Given the description of an element on the screen output the (x, y) to click on. 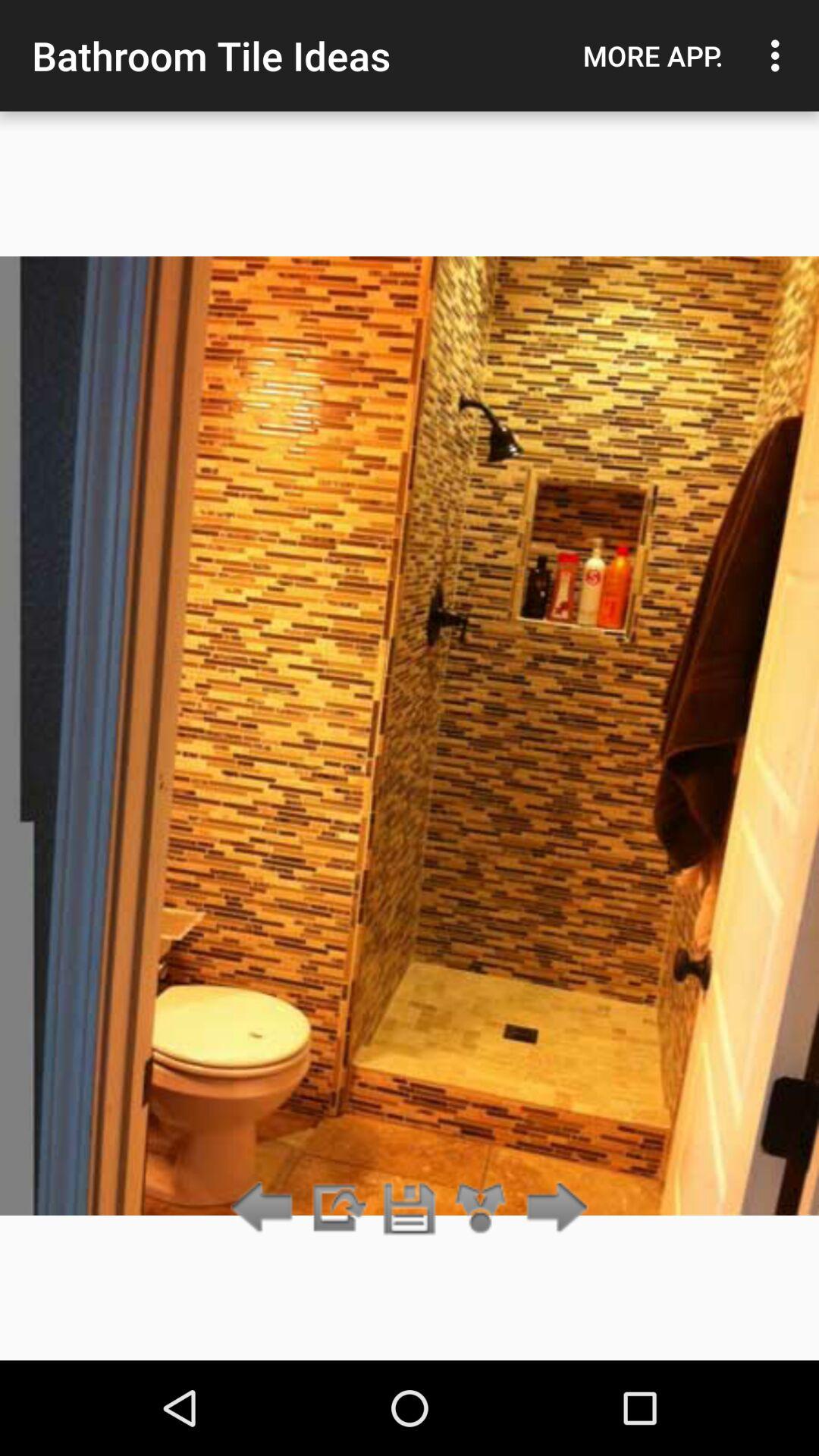
select the icon at the bottom right corner (552, 1209)
